Given the description of an element on the screen output the (x, y) to click on. 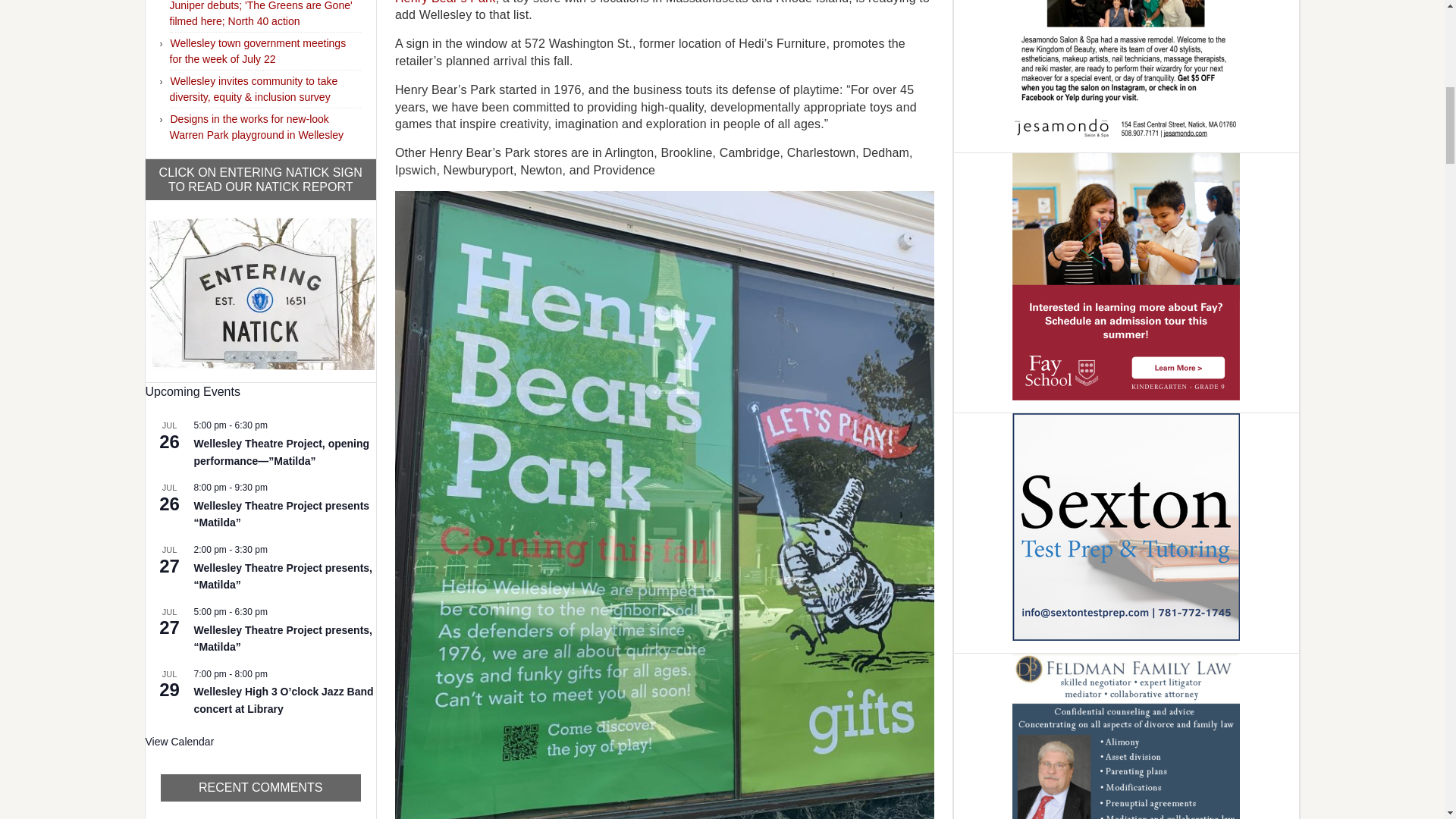
Wellesley town government meetings for the week of July 22 (258, 50)
Click on Entering Natick sign to read our Natick Report (260, 291)
